Given the description of an element on the screen output the (x, y) to click on. 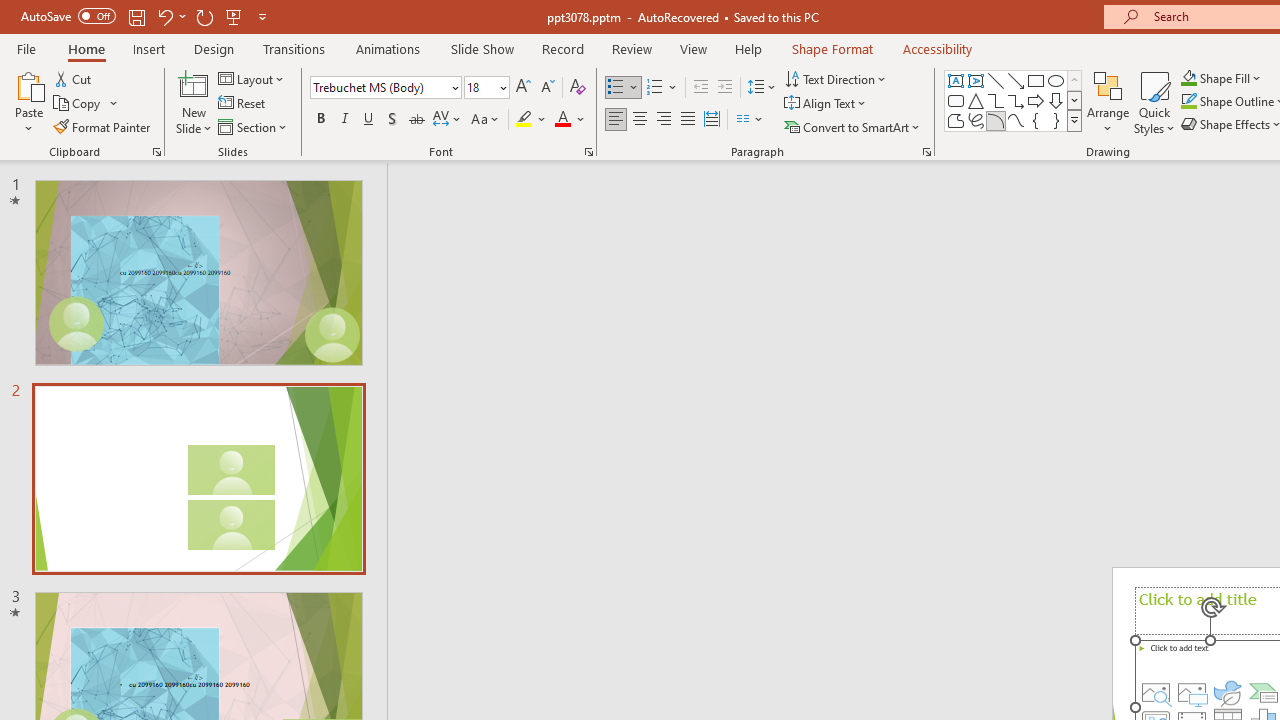
Insert a SmartArt Graphic (1264, 692)
